Given the description of an element on the screen output the (x, y) to click on. 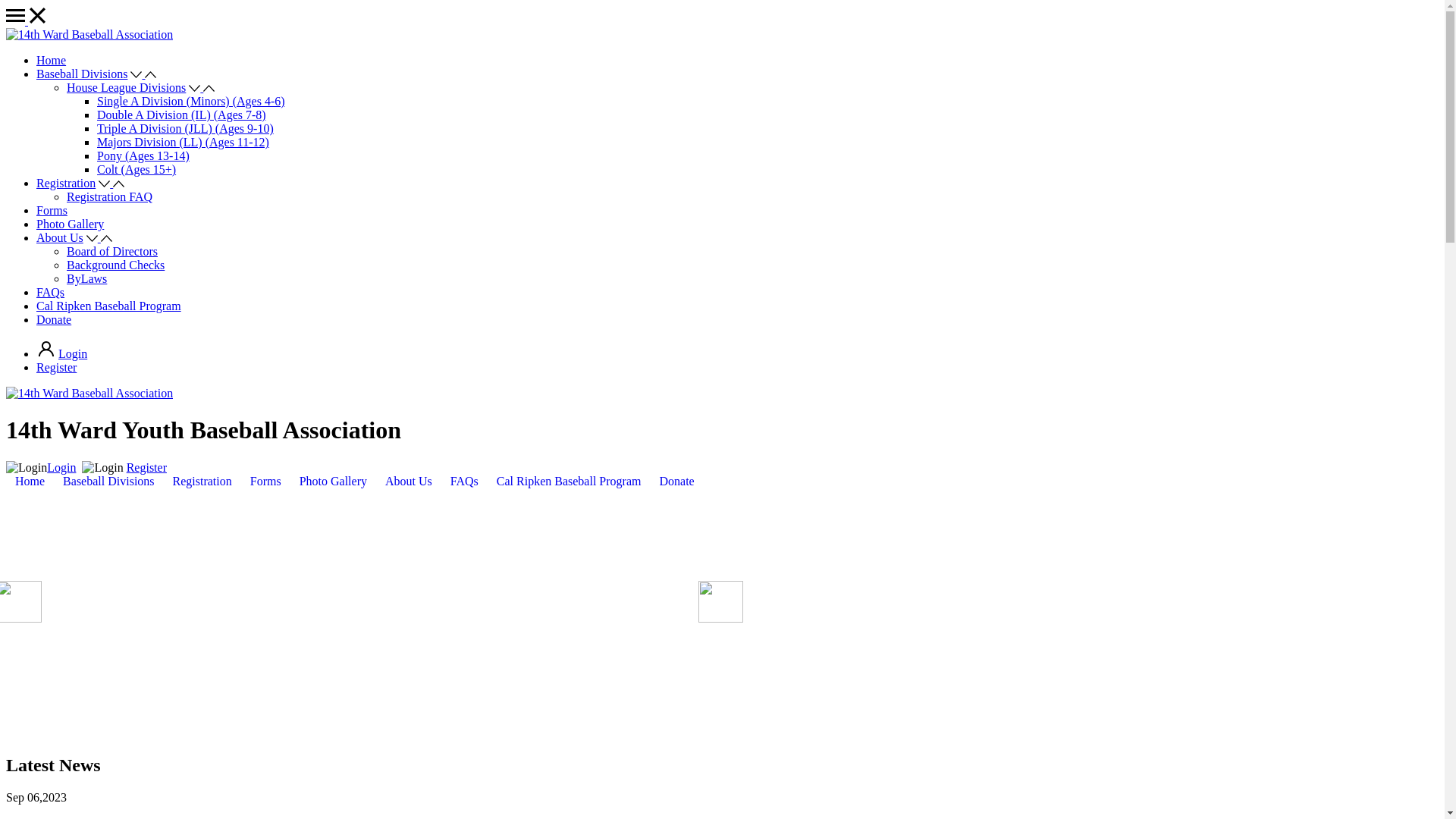
Cal Ripken Baseball Program Element type: text (108, 305)
About Us Element type: text (408, 481)
House League Divisions Element type: text (125, 87)
ByLaws Element type: text (86, 278)
14th Ward Baseball Association Element type: hover (89, 392)
14th Ward Baseball Association Element type: hover (89, 34)
Baseball Divisions Element type: text (81, 73)
Majors Division (LL) (Ages 11-12) Element type: text (183, 141)
Login Element type: text (72, 353)
Home Element type: text (50, 59)
Photo Gallery Element type: text (333, 481)
Home Element type: text (29, 481)
Cal Ripken Baseball Program Element type: text (568, 481)
Single A Division (Minors) (Ages 4-6) Element type: text (191, 100)
FAQs Element type: text (464, 481)
Photo Gallery Element type: text (69, 223)
FAQs Element type: text (50, 291)
Colt (Ages 15+) Element type: text (136, 169)
Register Element type: text (146, 467)
Registration Element type: text (65, 182)
Registration FAQ Element type: text (109, 196)
About Us Element type: text (59, 237)
Forms Element type: text (265, 481)
Donate Element type: text (675, 481)
Double A Division (IL) (Ages 7-8) Element type: text (181, 114)
Background Checks Element type: text (115, 264)
Triple A Division (JLL) (Ages 9-10) Element type: text (185, 128)
Pony (Ages 13-14) Element type: text (143, 155)
Baseball Divisions Element type: text (108, 481)
Register Element type: text (56, 366)
Registration Element type: text (202, 481)
Board of Directors Element type: text (111, 250)
Forms Element type: text (51, 209)
Login Element type: text (61, 467)
Donate Element type: text (53, 319)
